Given the description of an element on the screen output the (x, y) to click on. 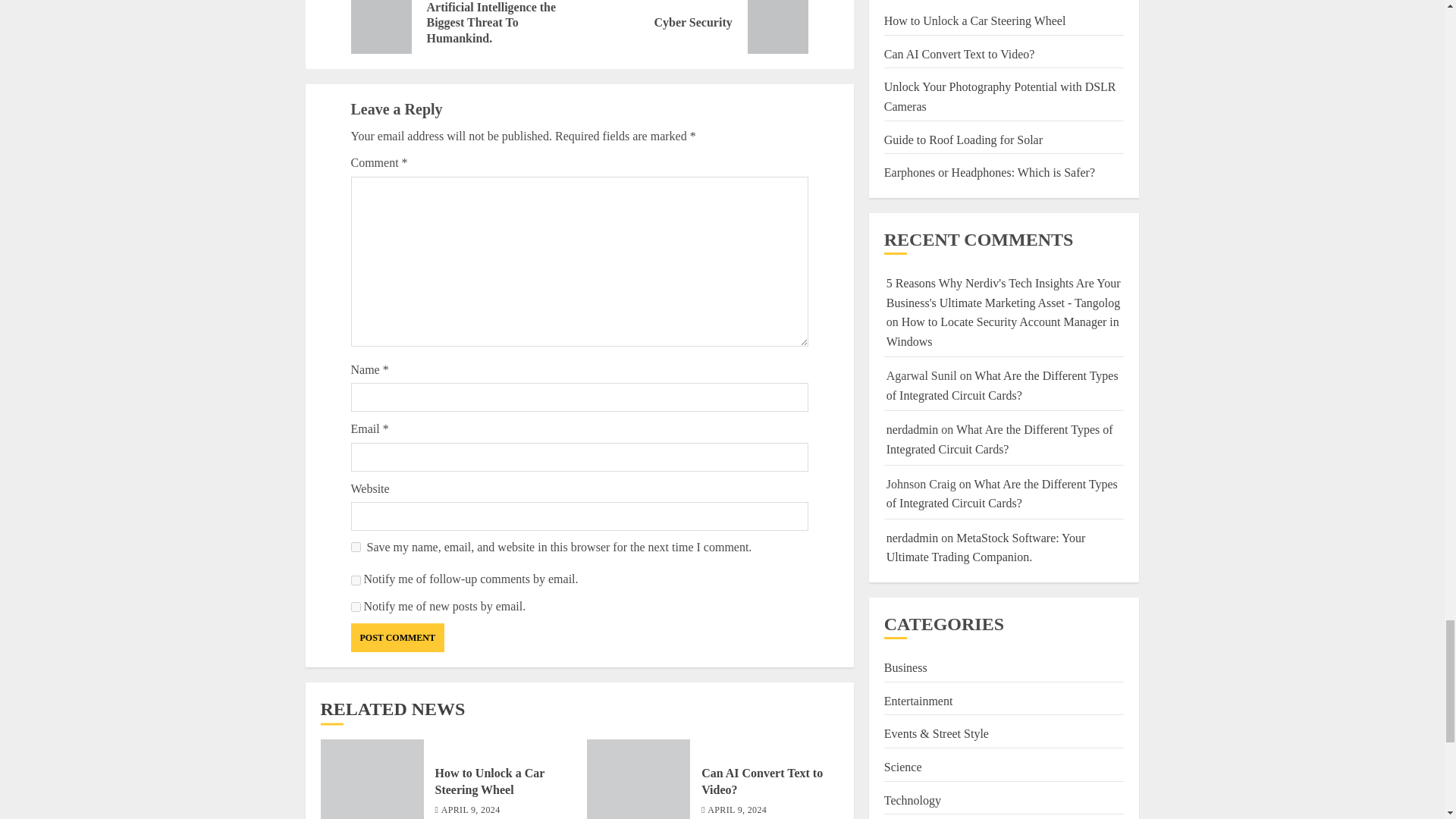
yes (354, 547)
Can AI Convert Text to Video? (761, 781)
subscribe (354, 580)
APRIL 9, 2024 (693, 27)
subscribe (737, 810)
Post Comment (354, 606)
APRIL 9, 2024 (397, 637)
How to Unlock a Car Steering Wheel (470, 810)
